Given the description of an element on the screen output the (x, y) to click on. 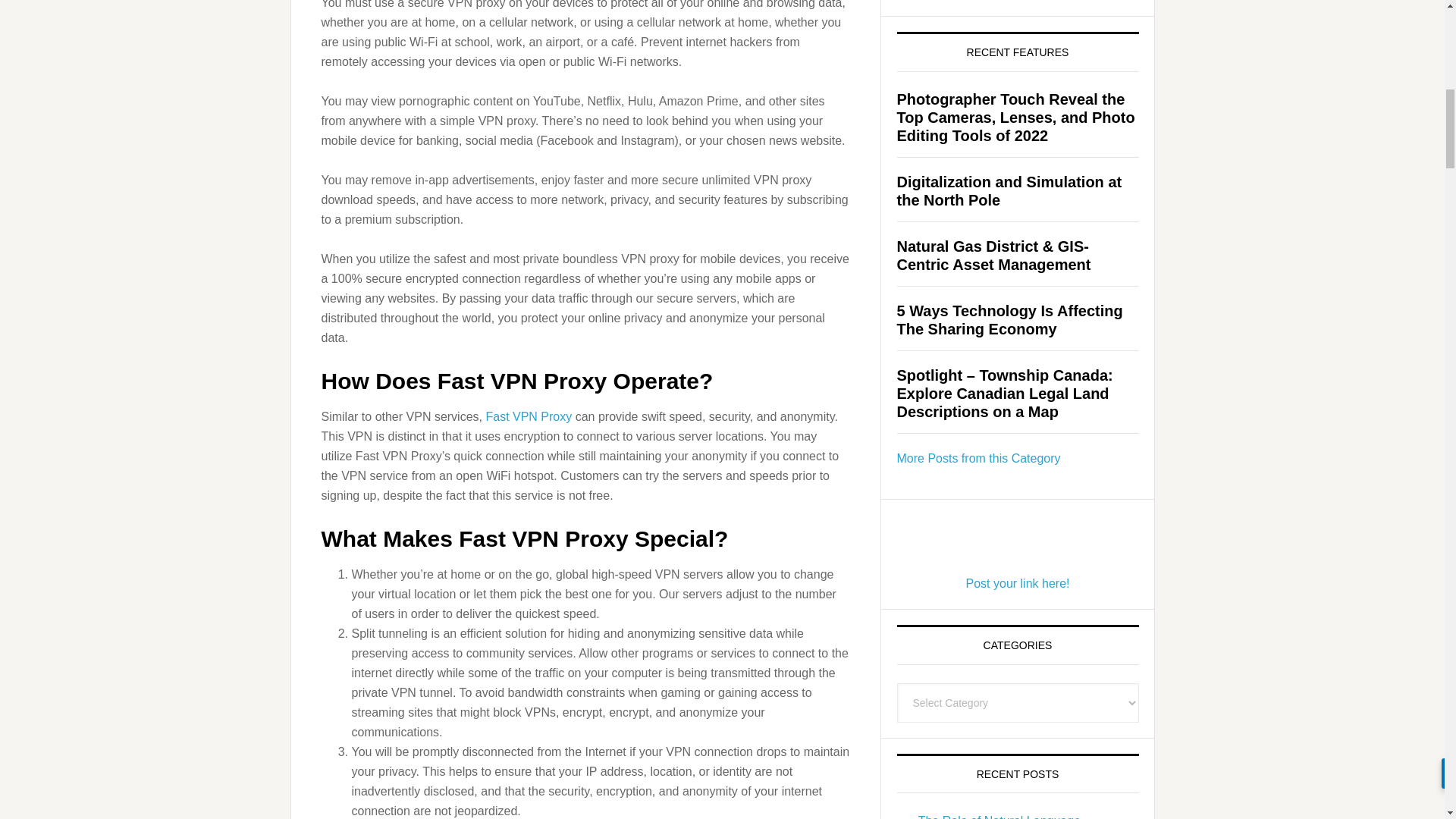
Top Features (977, 458)
Fast VPN Proxy (528, 415)
